Given the description of an element on the screen output the (x, y) to click on. 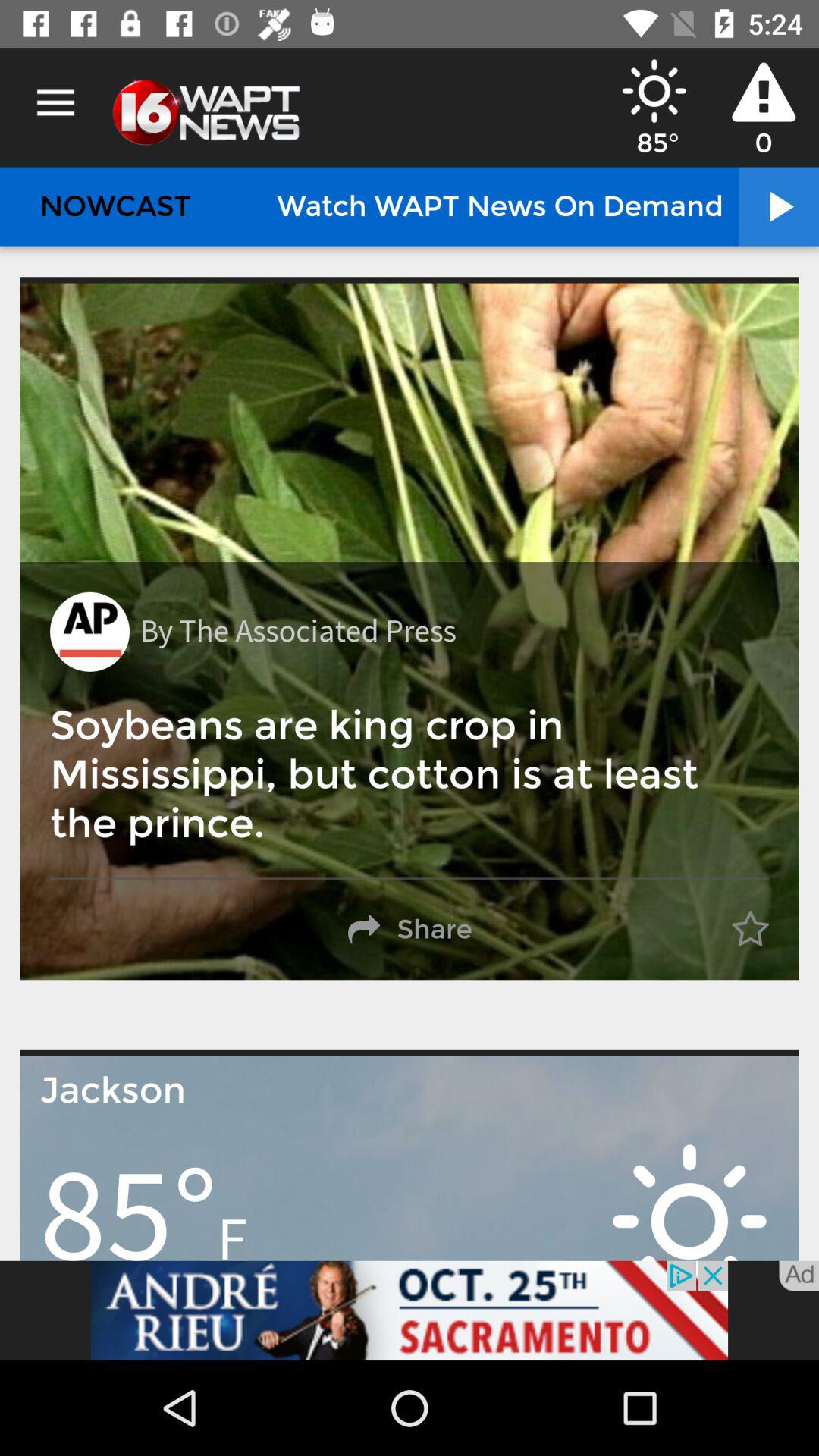
visit andre rieu website (409, 1310)
